Given the description of an element on the screen output the (x, y) to click on. 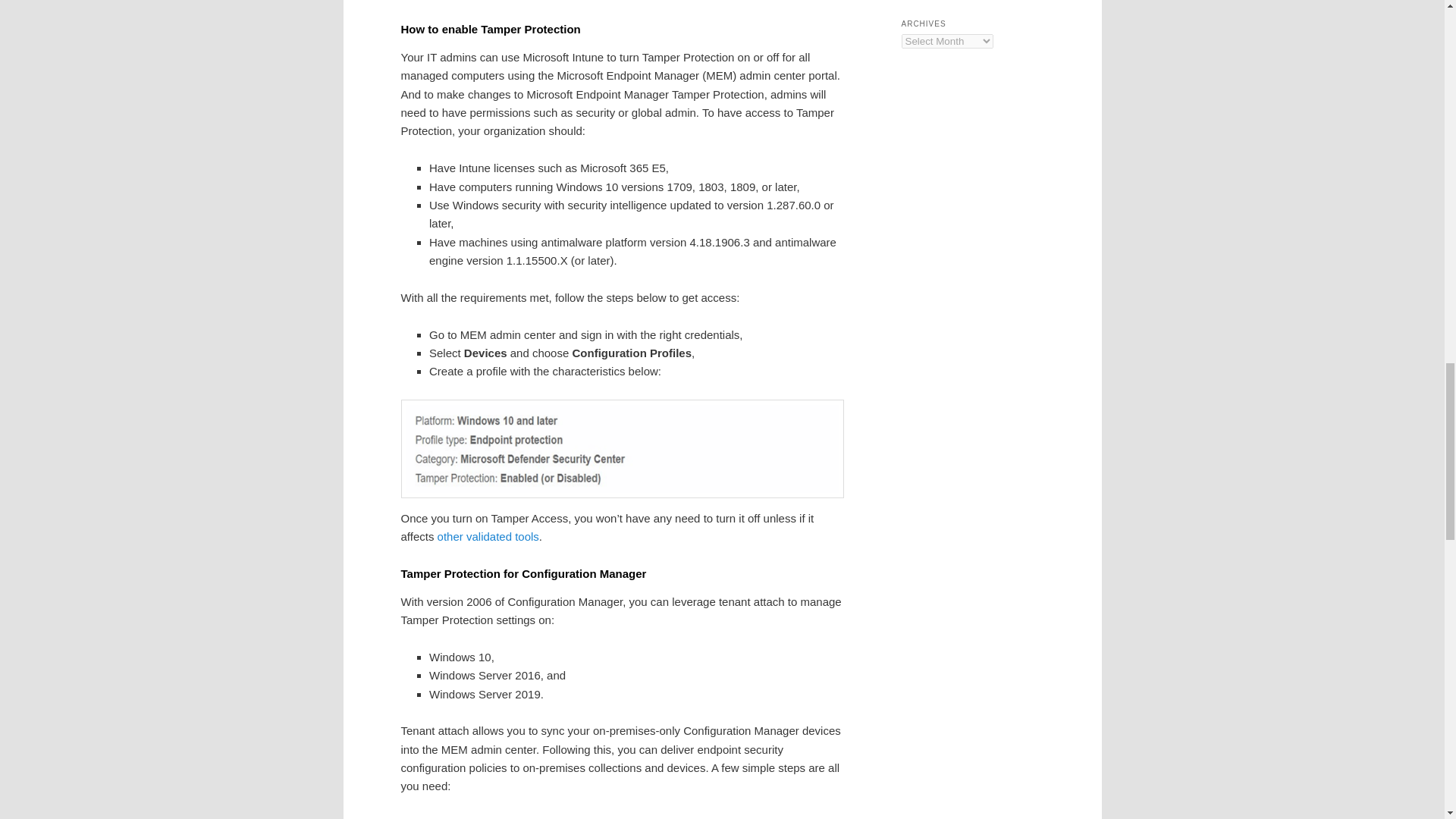
other validated tools (488, 535)
tenant attach (498, 817)
